Given the description of an element on the screen output the (x, y) to click on. 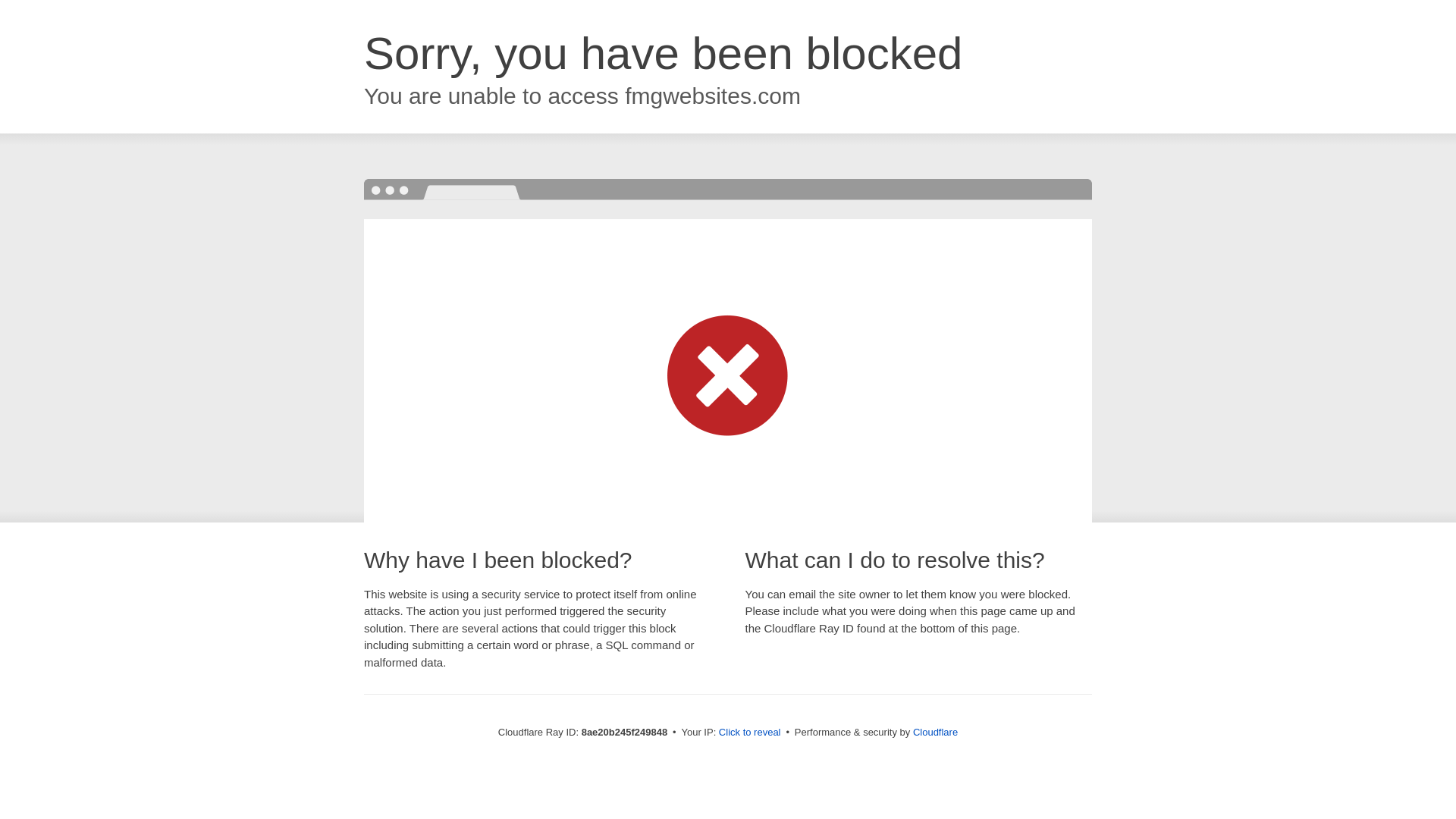
Click to reveal (749, 732)
Cloudflare (935, 731)
